Given the description of an element on the screen output the (x, y) to click on. 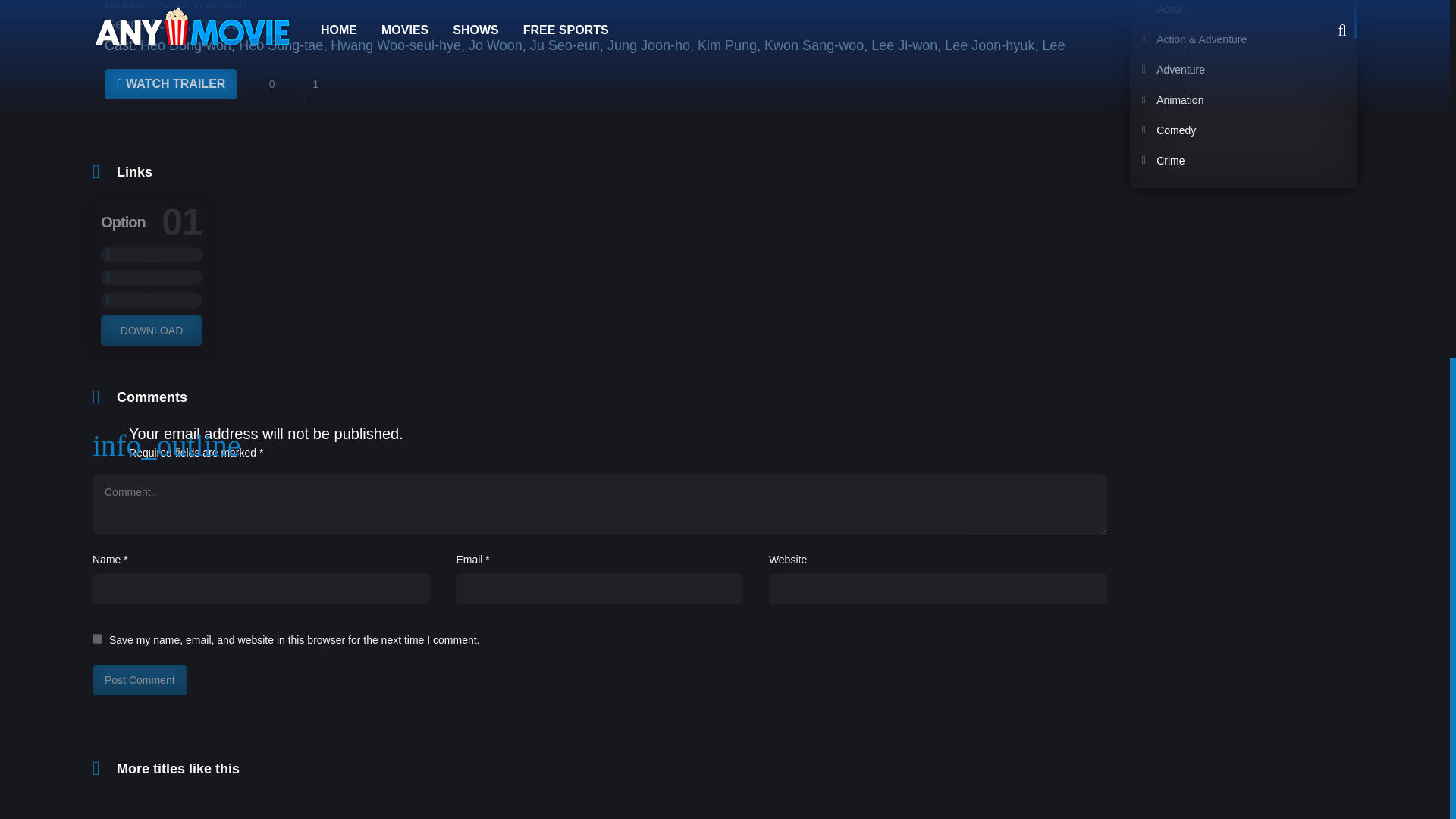
Heo Sung-tae (280, 45)
Choi Won-sub (203, 5)
Disney (1240, 191)
Lee Ji-won (903, 45)
Adventure (1240, 69)
Lee Joon-hyuk (988, 45)
Documentary (1240, 221)
Kim Pung (727, 45)
Animation (1240, 100)
DOWNLOAD (151, 330)
